Given the description of an element on the screen output the (x, y) to click on. 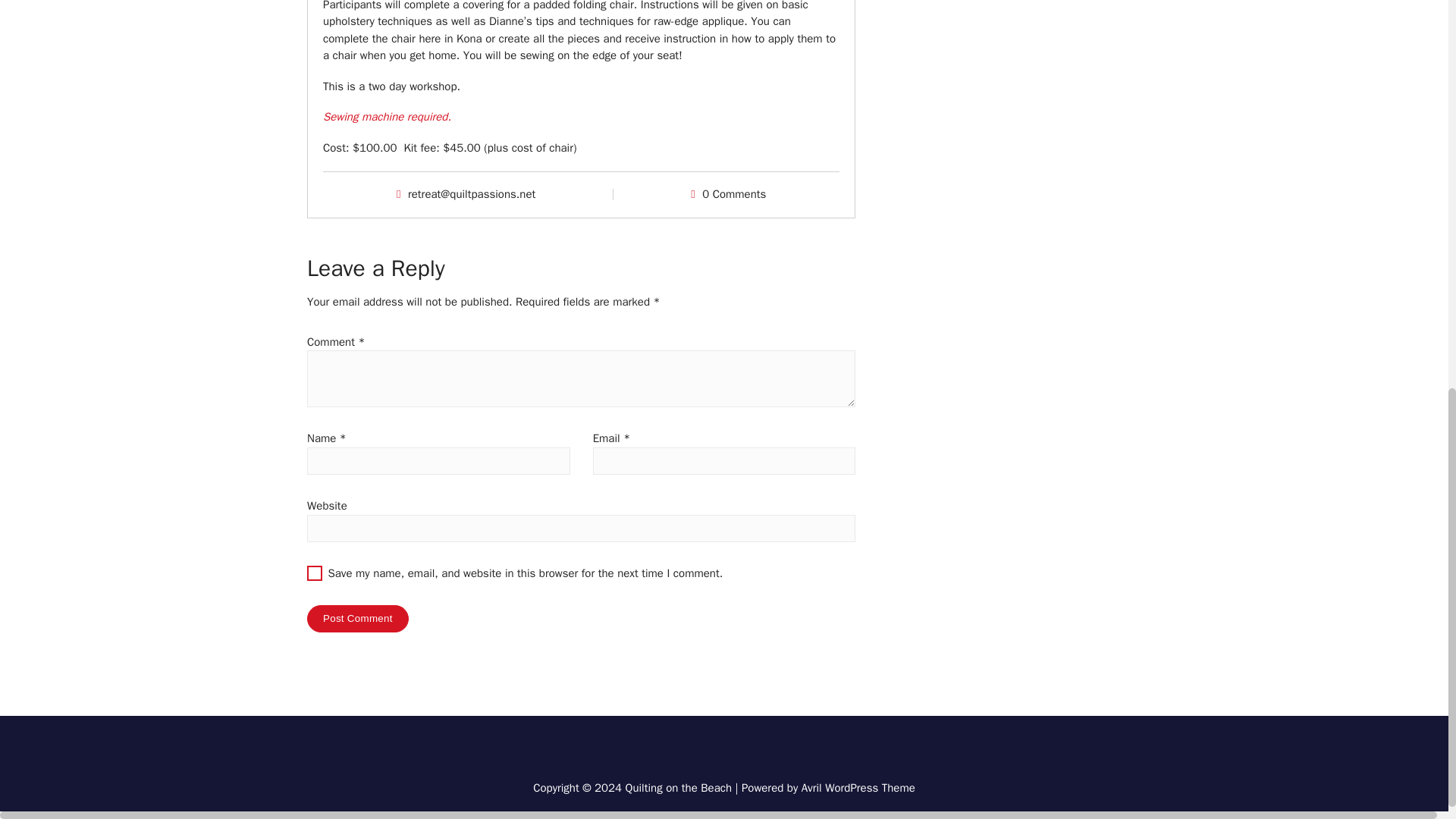
0 Comments (733, 193)
Post Comment (358, 619)
yes (314, 572)
Post Comment (358, 619)
Avril WordPress Theme (858, 787)
